Given the description of an element on the screen output the (x, y) to click on. 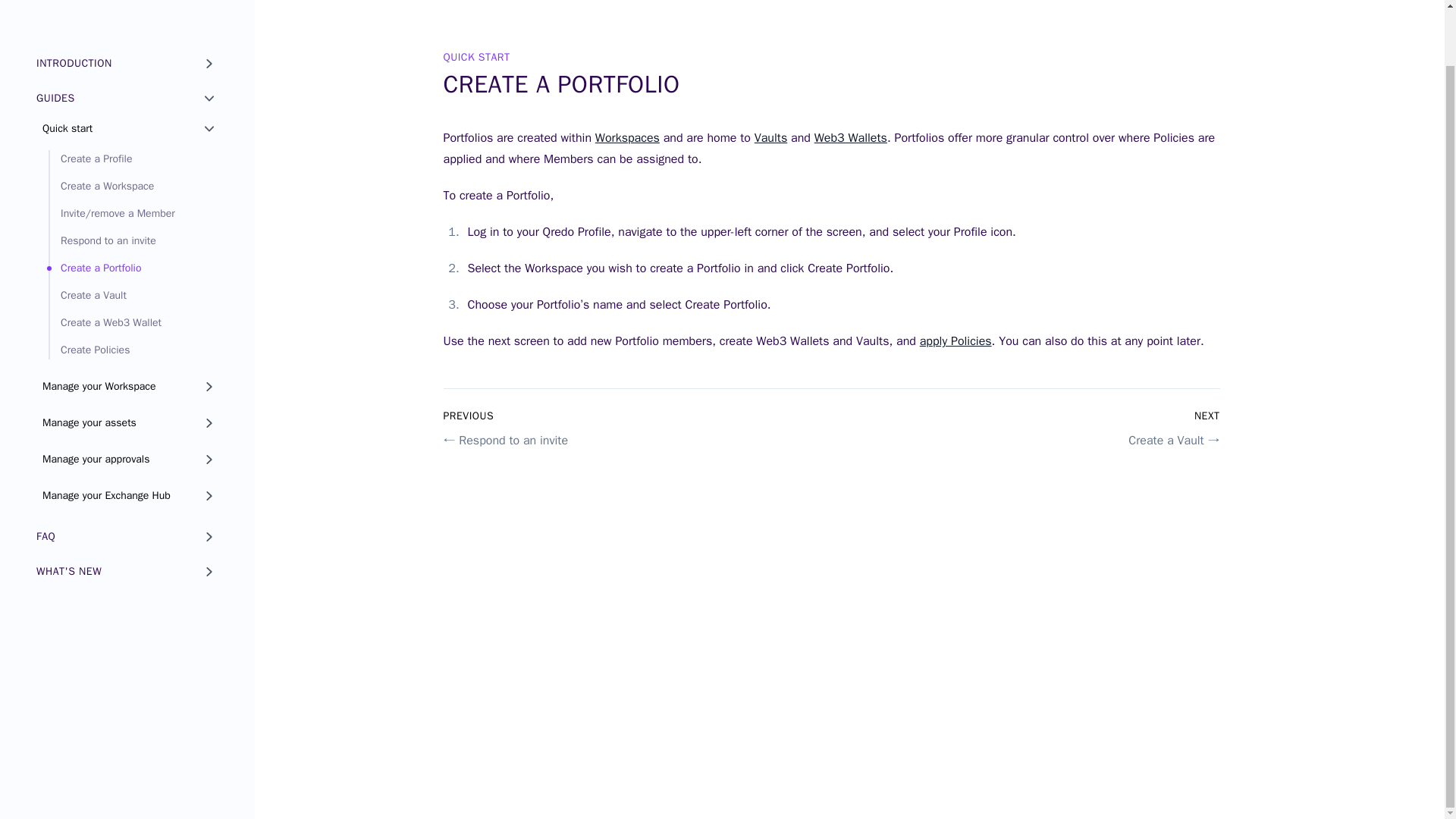
Create a Workspace (133, 186)
Manage your Workspace (130, 386)
Create a Portfolio (133, 268)
Create a Web3 Wallet (133, 322)
Create Policies (133, 350)
Quick start (130, 128)
Create a Profile (133, 158)
INTRODUCTION (127, 63)
Respond to an invite (133, 240)
GUIDES (127, 98)
